Given the description of an element on the screen output the (x, y) to click on. 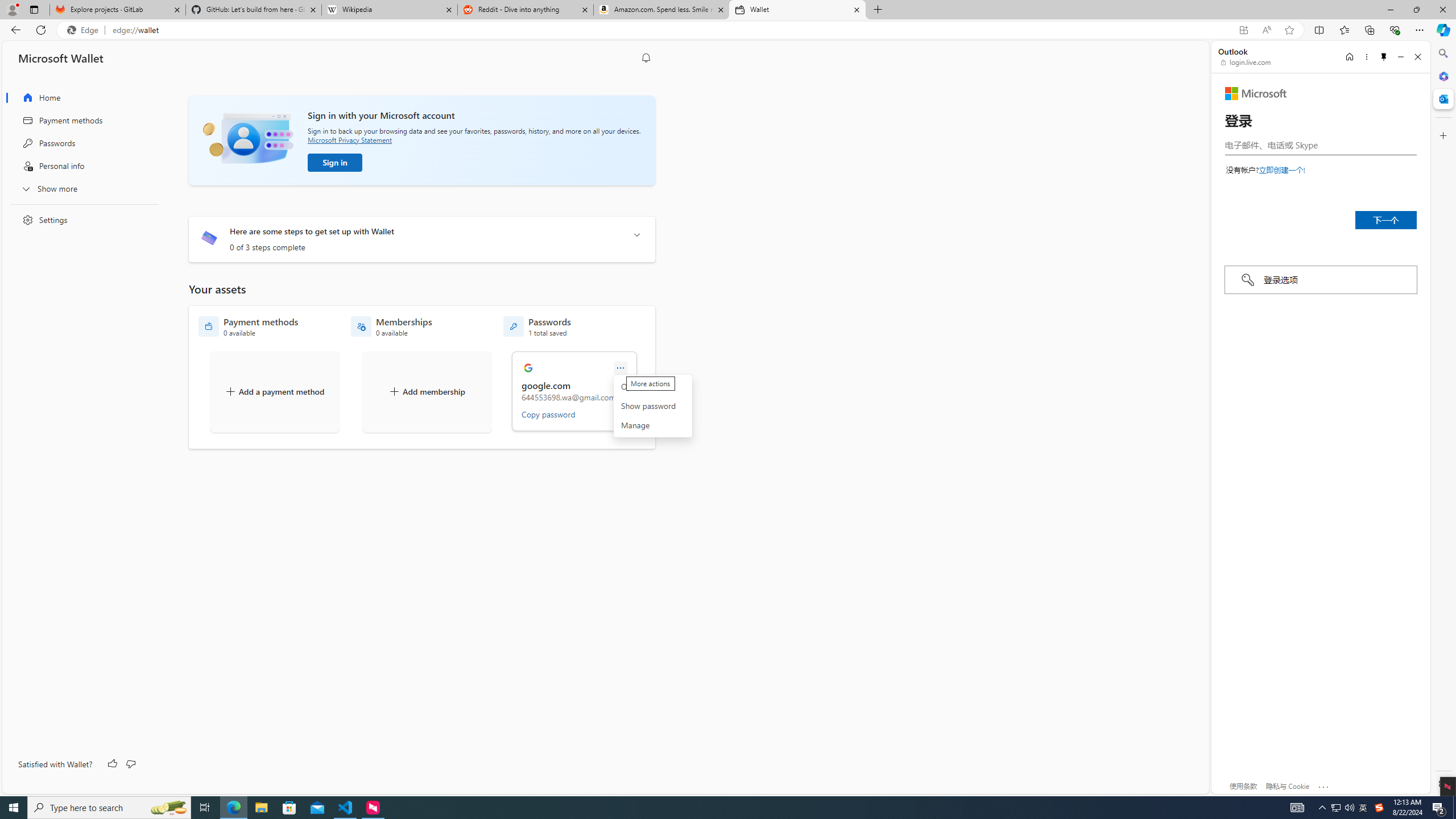
Payment methods (81, 120)
Passwords - 1 total saved (537, 326)
Show more (81, 188)
Personal info (81, 165)
More actions (651, 405)
Payment methods - 0 available (248, 326)
